Given the description of an element on the screen output the (x, y) to click on. 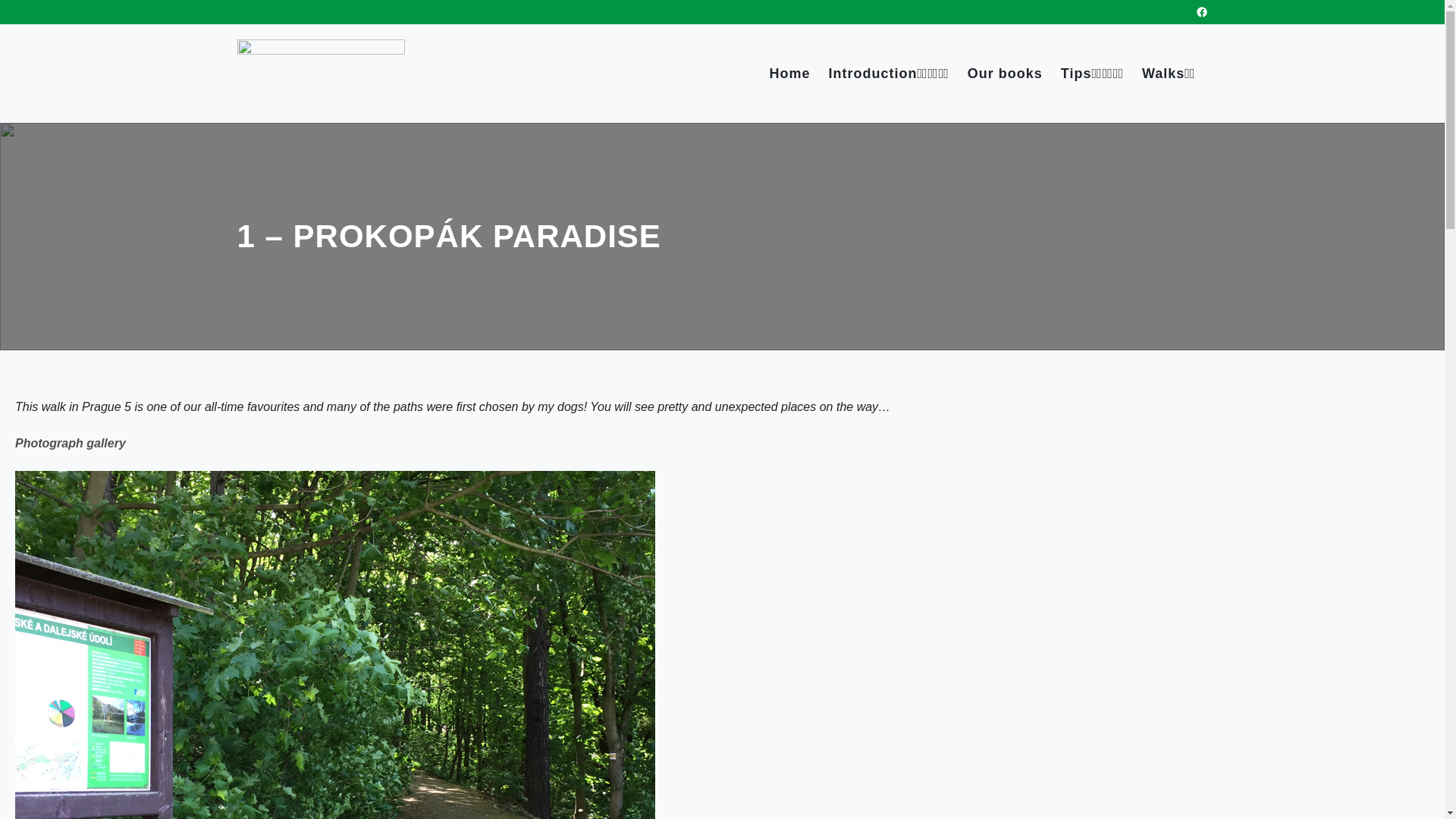
Home (788, 73)
Facebook (1201, 11)
Our books (1005, 73)
